Given the description of an element on the screen output the (x, y) to click on. 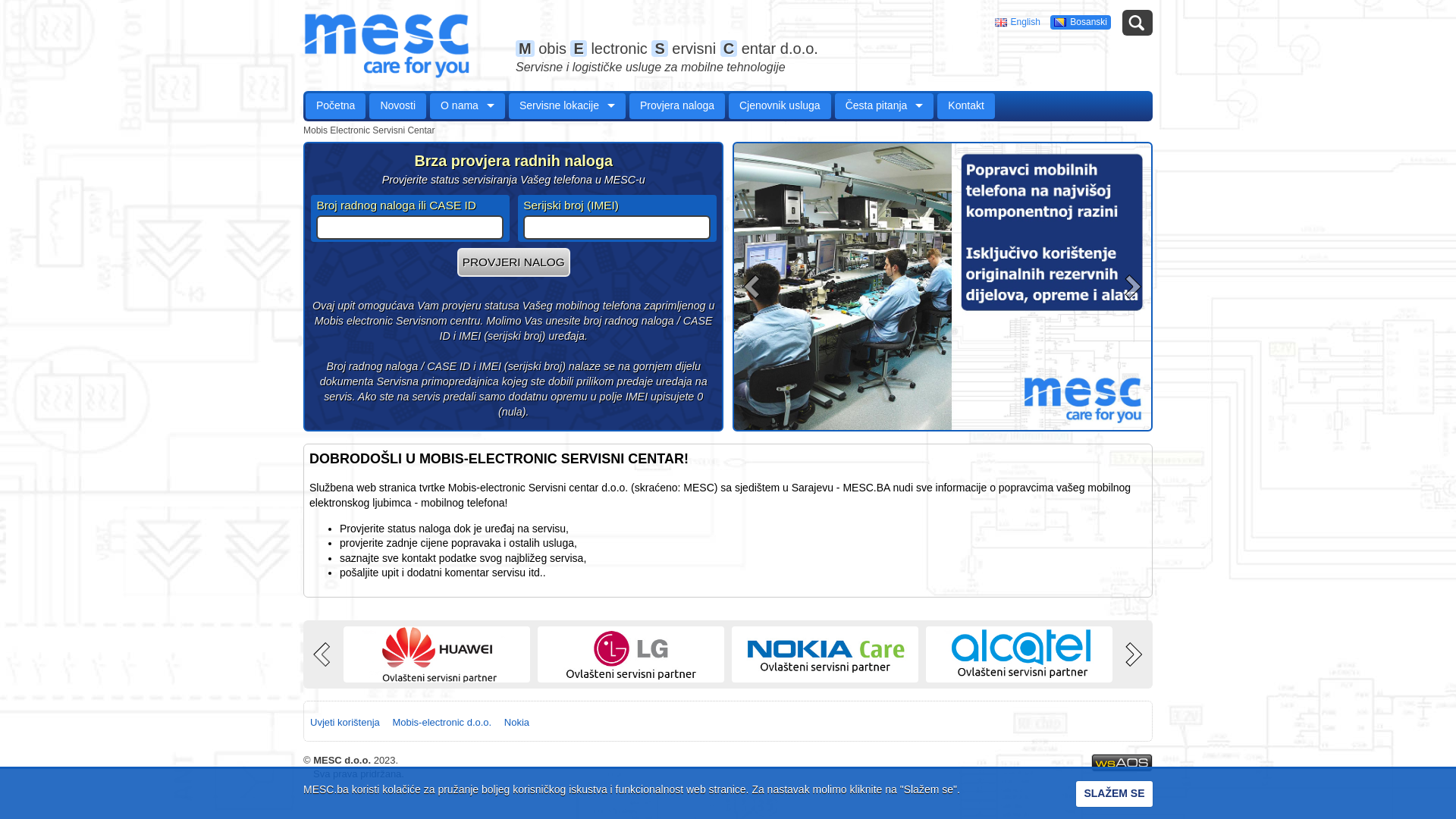
Novosti Element type: text (397, 106)
Provjera naloga Element type: text (676, 106)
O nama Element type: text (467, 106)
Provjeri nalog Element type: text (513, 261)
Mobis Electronic Servisni Centar - MESC d.o.o. Element type: hover (386, 45)
Mobis Electronic Servisni Centar Element type: text (368, 130)
Prev Element type: text (753, 286)
English Element type: text (1017, 22)
Alcatel Onetouch Element type: hover (1018, 654)
Prev Element type: text (323, 654)
Huawei Element type: hover (436, 654)
Servis mobilnih telefona Element type: hover (942, 286)
Next Element type: text (1132, 654)
Nokia Element type: text (516, 722)
Bosanski Element type: text (1080, 22)
Nokia Care Element type: hover (824, 654)
Cjenovnik usluga Element type: text (779, 106)
Next Element type: text (1131, 286)
Servisne lokacije Element type: text (566, 106)
LG Electronics Element type: hover (630, 654)
Kontakt Element type: text (965, 106)
Mobis-electronic d.o.o. Element type: text (441, 722)
